Given the description of an element on the screen output the (x, y) to click on. 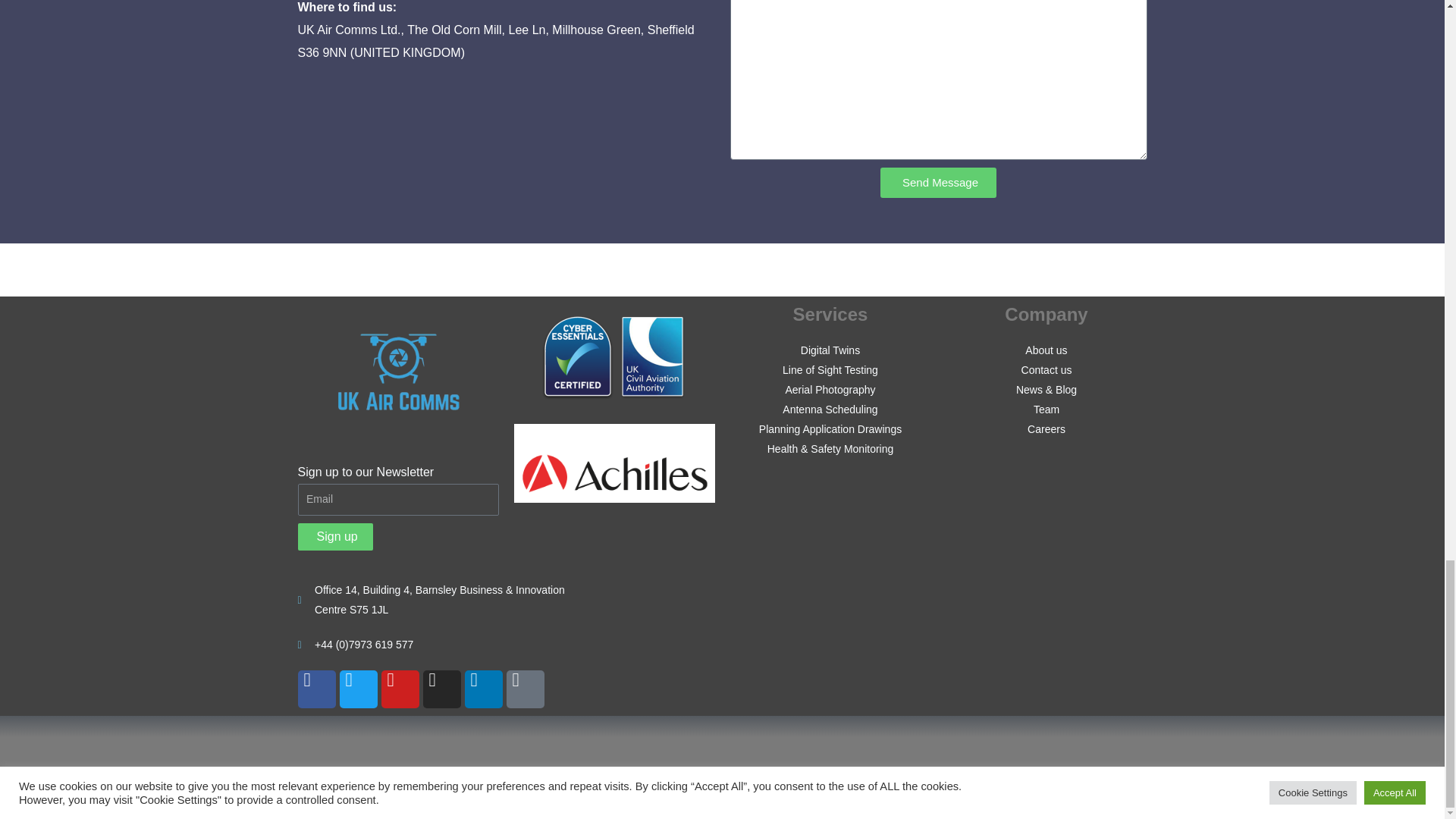
badges (614, 355)
